Given the description of an element on the screen output the (x, y) to click on. 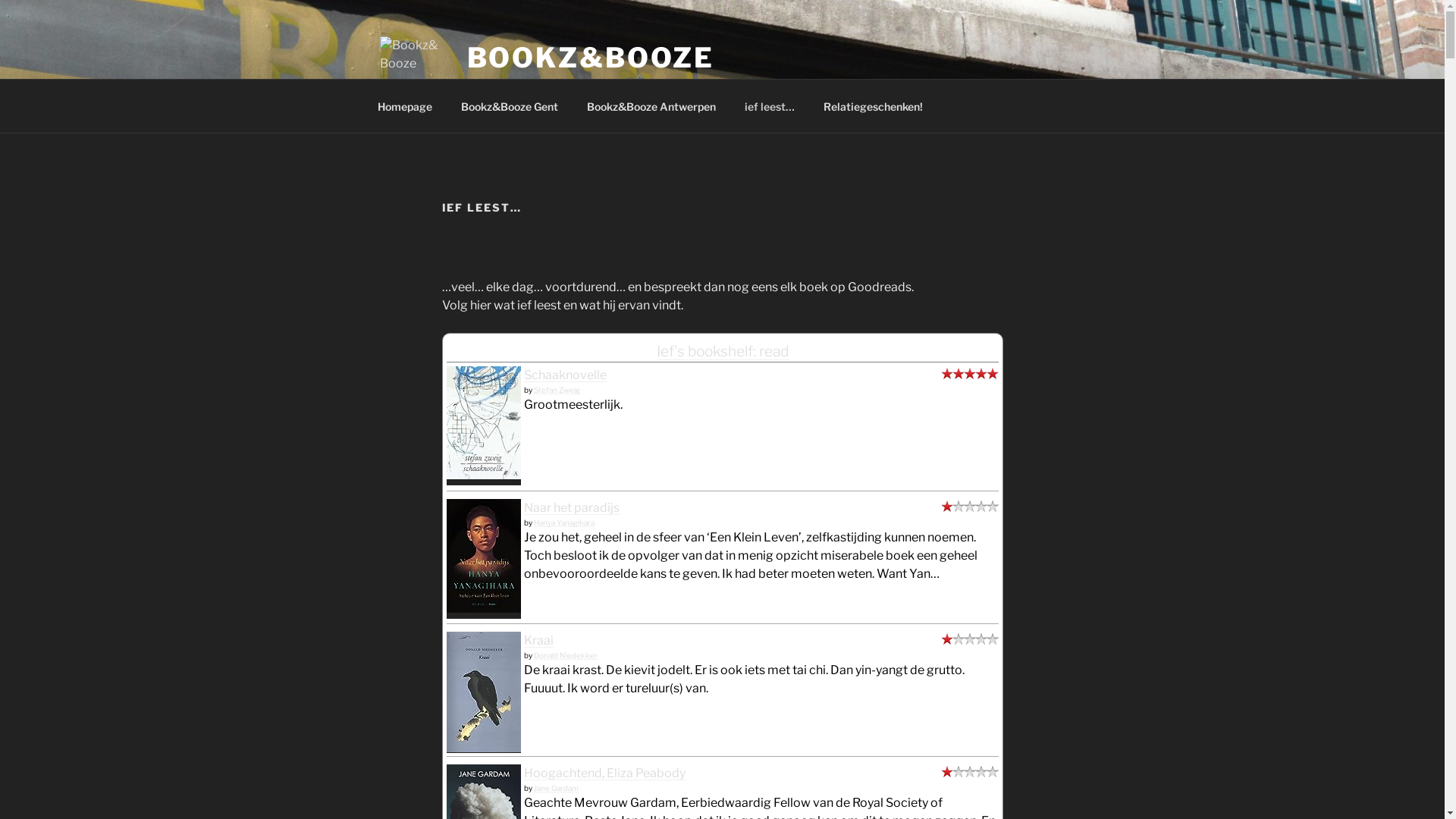
did not like it Element type: hover (969, 640)
Hanya Yanagihara Element type: text (563, 522)
Donald Niedekker Element type: text (565, 654)
Kraai Element type: text (537, 640)
Naar het paradijs Element type: hover (482, 608)
Hoogachtend, Eliza Peabody Element type: text (603, 772)
Ief's bookshelf: read Element type: text (722, 351)
Schaaknovelle Element type: text (564, 374)
Bookz&Booze Gent Element type: text (509, 106)
it was amazing Element type: hover (969, 374)
Stefan Zweig Element type: text (556, 389)
Kraai Element type: hover (482, 747)
Schaaknovelle Element type: hover (482, 474)
Bookz&Booze Antwerpen Element type: text (650, 106)
Homepage Element type: text (404, 106)
did not like it Element type: hover (969, 772)
Relatiegeschenken! Element type: text (872, 106)
Jane Gardam Element type: text (555, 787)
did not like it Element type: hover (969, 507)
Naar het paradijs Element type: text (570, 507)
BOOKZ&BOOZE Element type: text (591, 57)
